Given the description of an element on the screen output the (x, y) to click on. 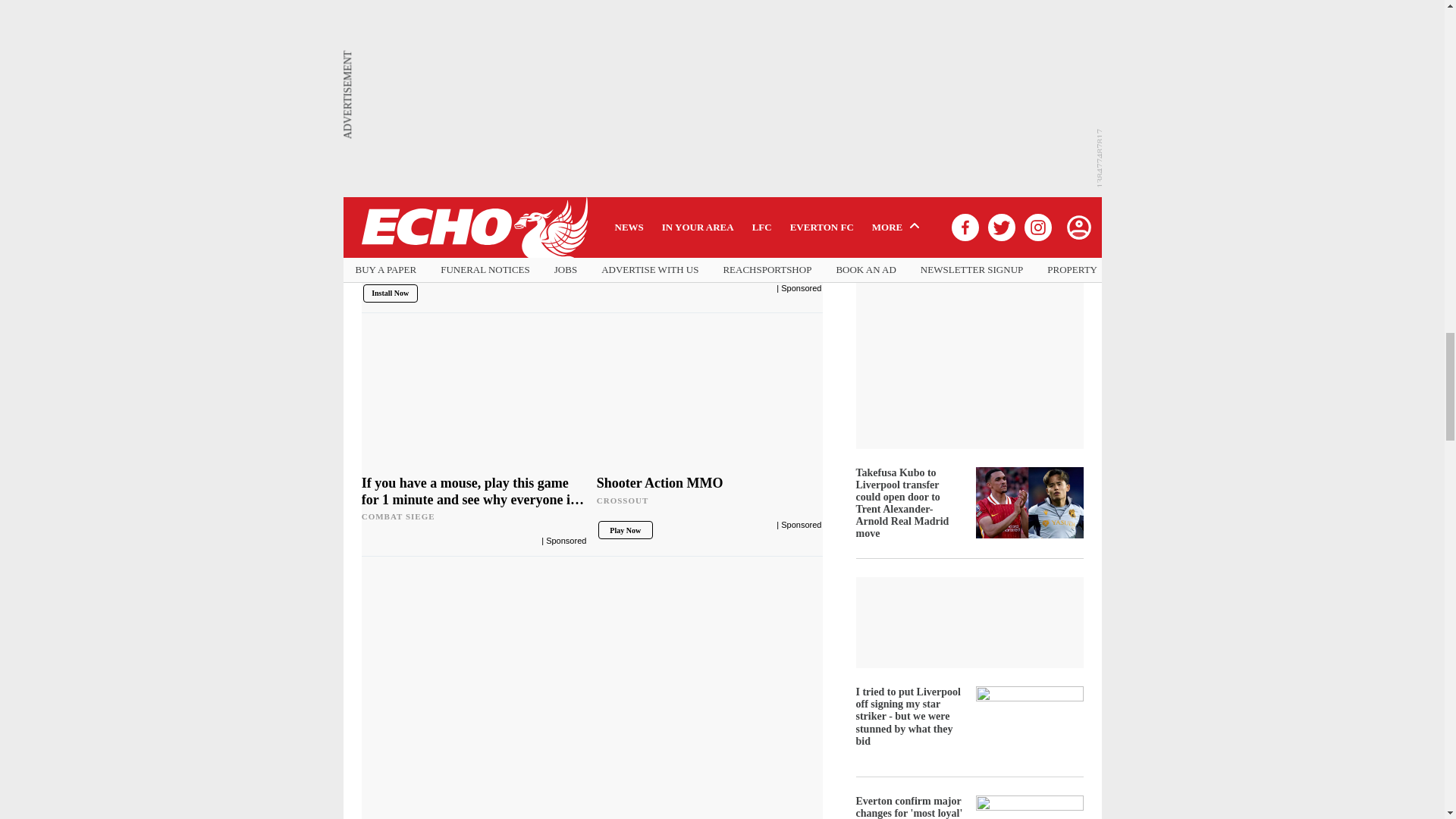
Write Better and Faster With This Desktop App (591, 96)
Write Better and Faster With This Desktop App (591, 242)
